Given the description of an element on the screen output the (x, y) to click on. 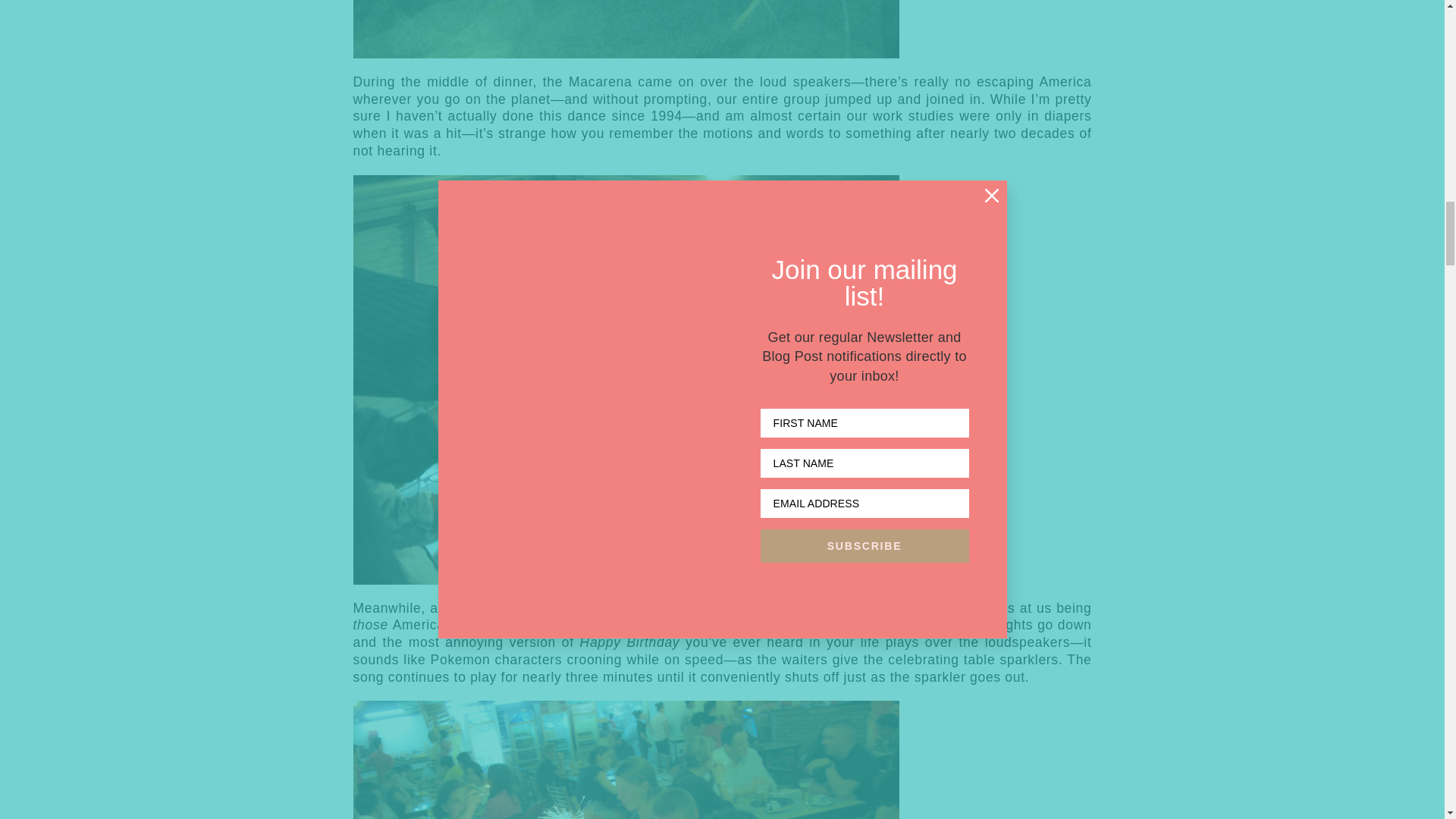
Dining, Ho Chi Minh, Vietnam (626, 29)
Dining, Ho Chi Minh, Vietnam (626, 760)
